Given the description of an element on the screen output the (x, y) to click on. 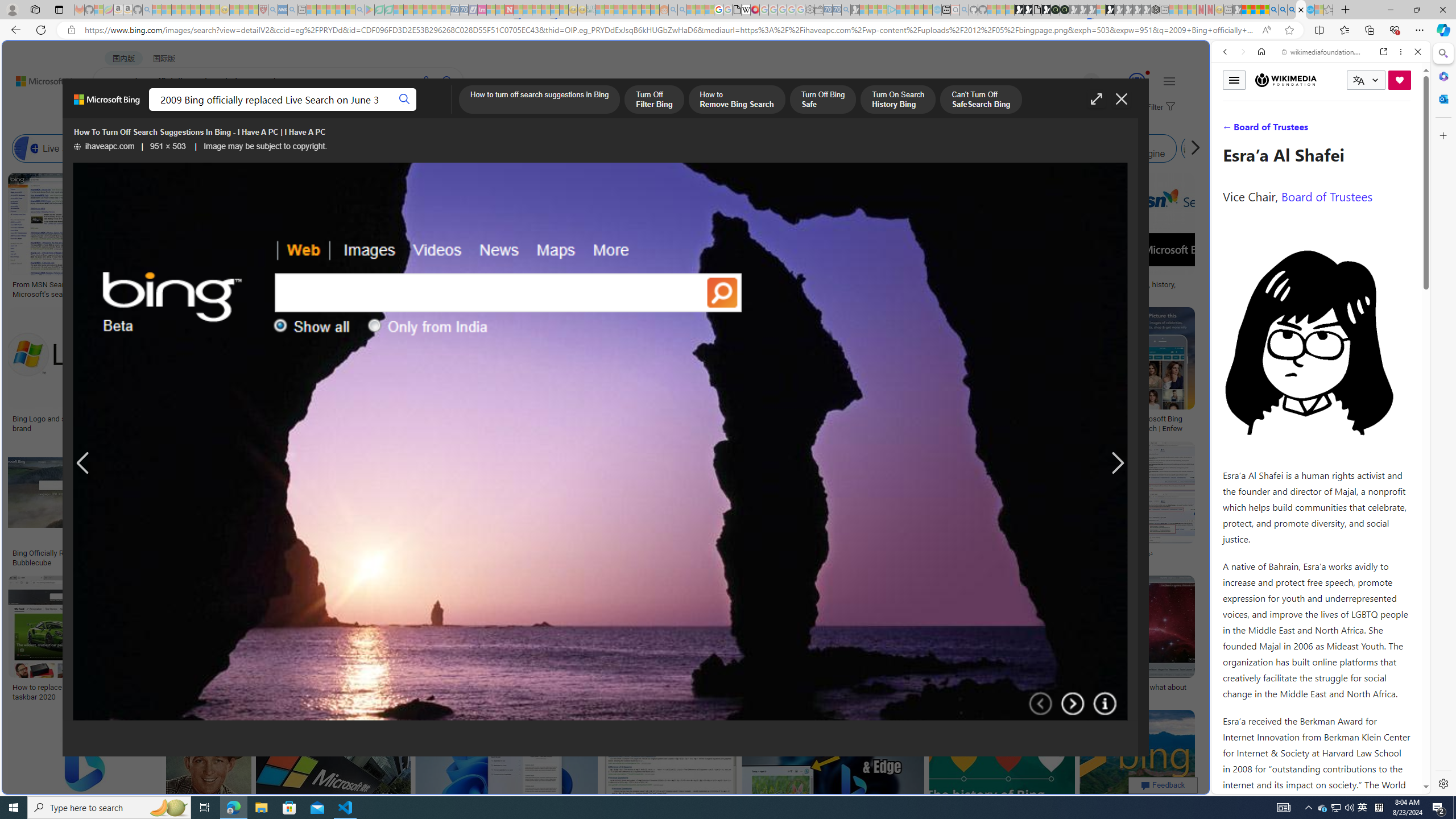
Target page - Wikipedia (745, 9)
Https Bing Search Q MSN (1195, 148)
Search Filter, VIDEOS (1300, 129)
Pets - MSN - Sleeping (340, 9)
Microsoft Live Logo (339, 284)
Bluey: Let's Play! - Apps on Google Play - Sleeping (369, 9)
MY BING (156, 111)
Utah sues federal government - Search - Sleeping (681, 9)
Live Search (57, 148)
